Given the description of an element on the screen output the (x, y) to click on. 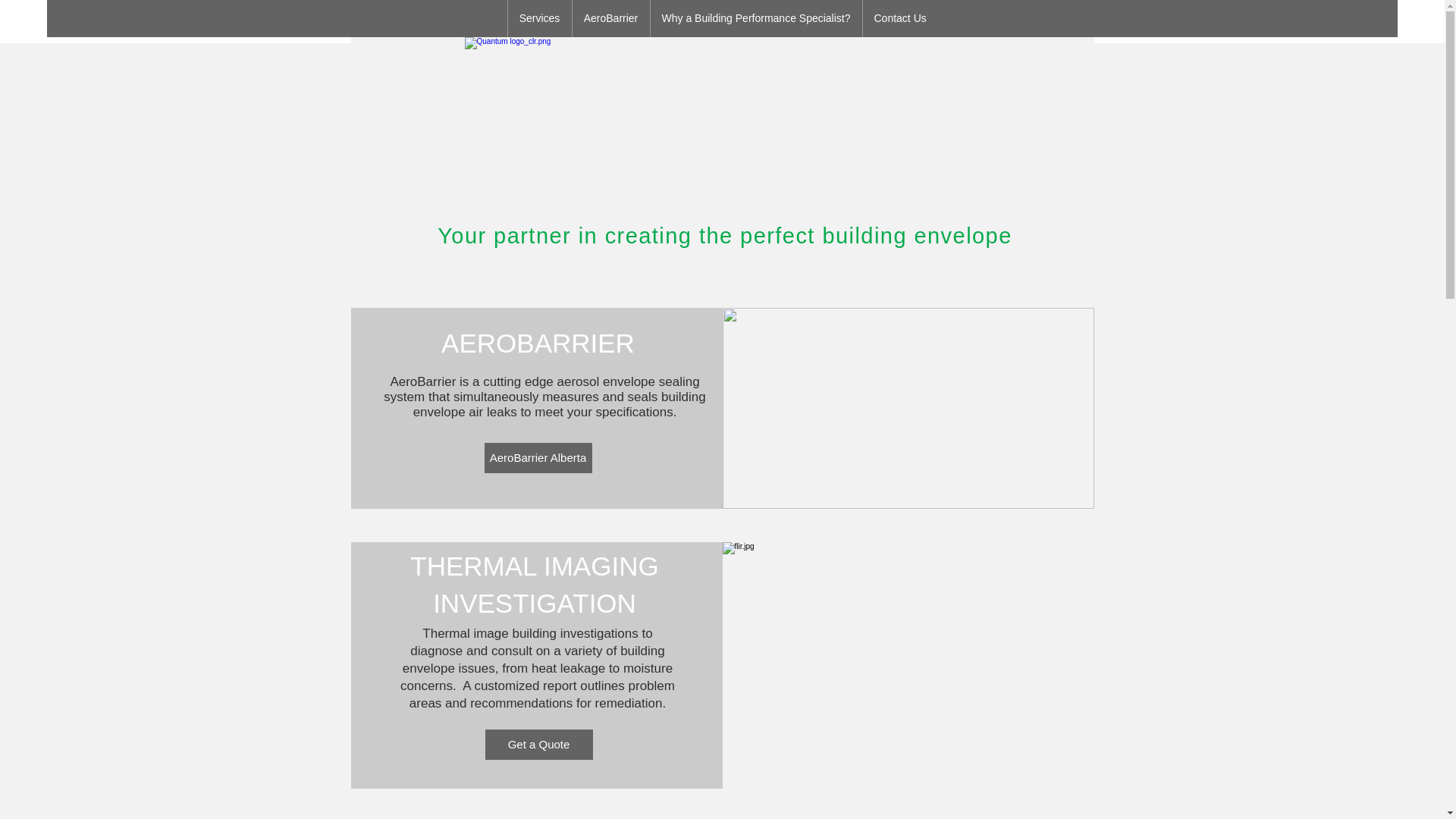
AeroBarrier Alberta (537, 458)
Contact Us (899, 18)
Why a Building Performance Specialist? (755, 18)
AeroBarrier (610, 18)
Services (538, 18)
Get a Quote (538, 744)
AEROBARRIER (537, 342)
